Given the description of an element on the screen output the (x, y) to click on. 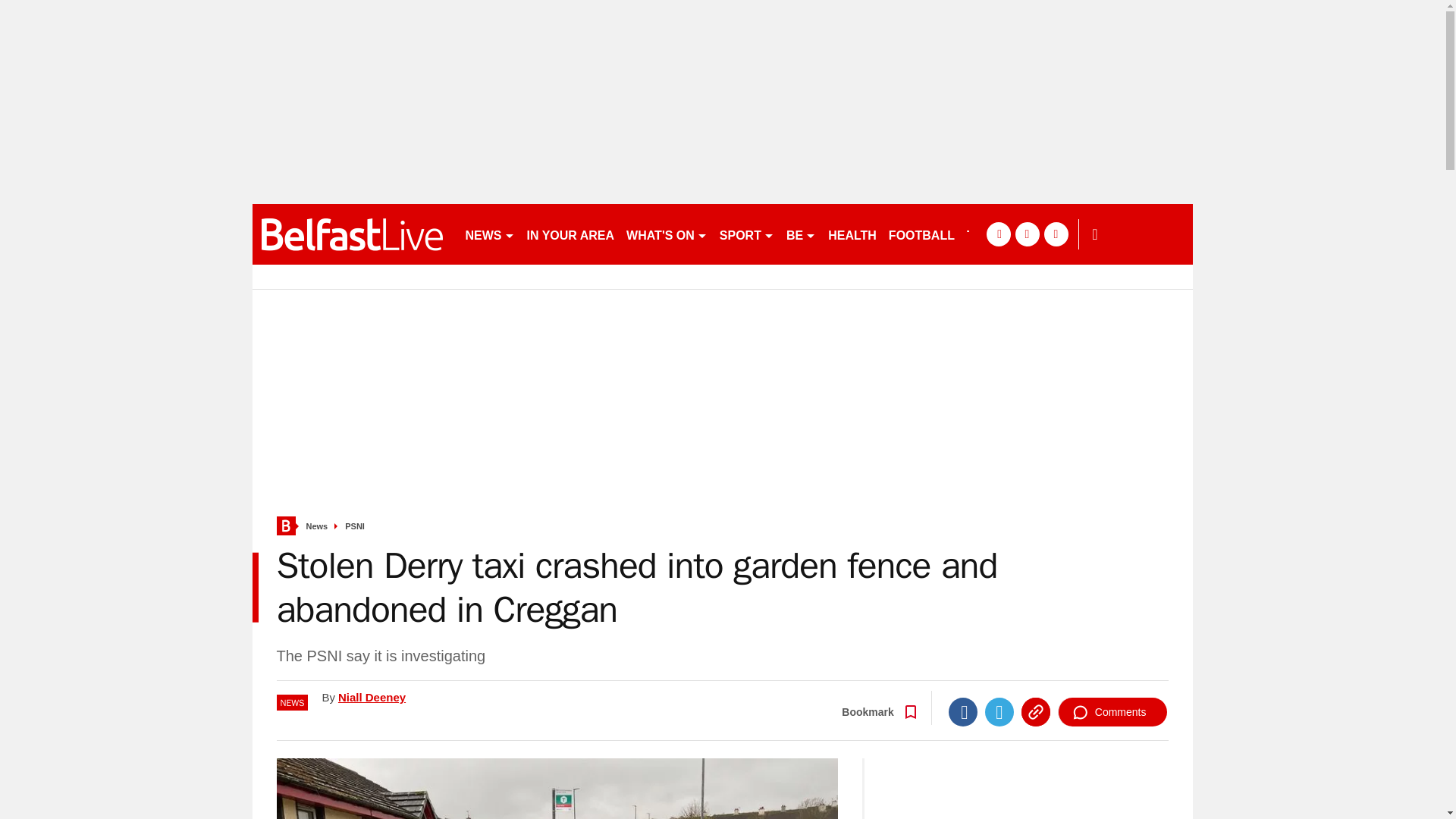
SPORT (746, 233)
Twitter (999, 711)
NEWS (490, 233)
belfastlive (351, 233)
Facebook (962, 711)
WHAT'S ON (666, 233)
instagram (1055, 233)
twitter (1026, 233)
IN YOUR AREA (569, 233)
facebook (997, 233)
